Given the description of an element on the screen output the (x, y) to click on. 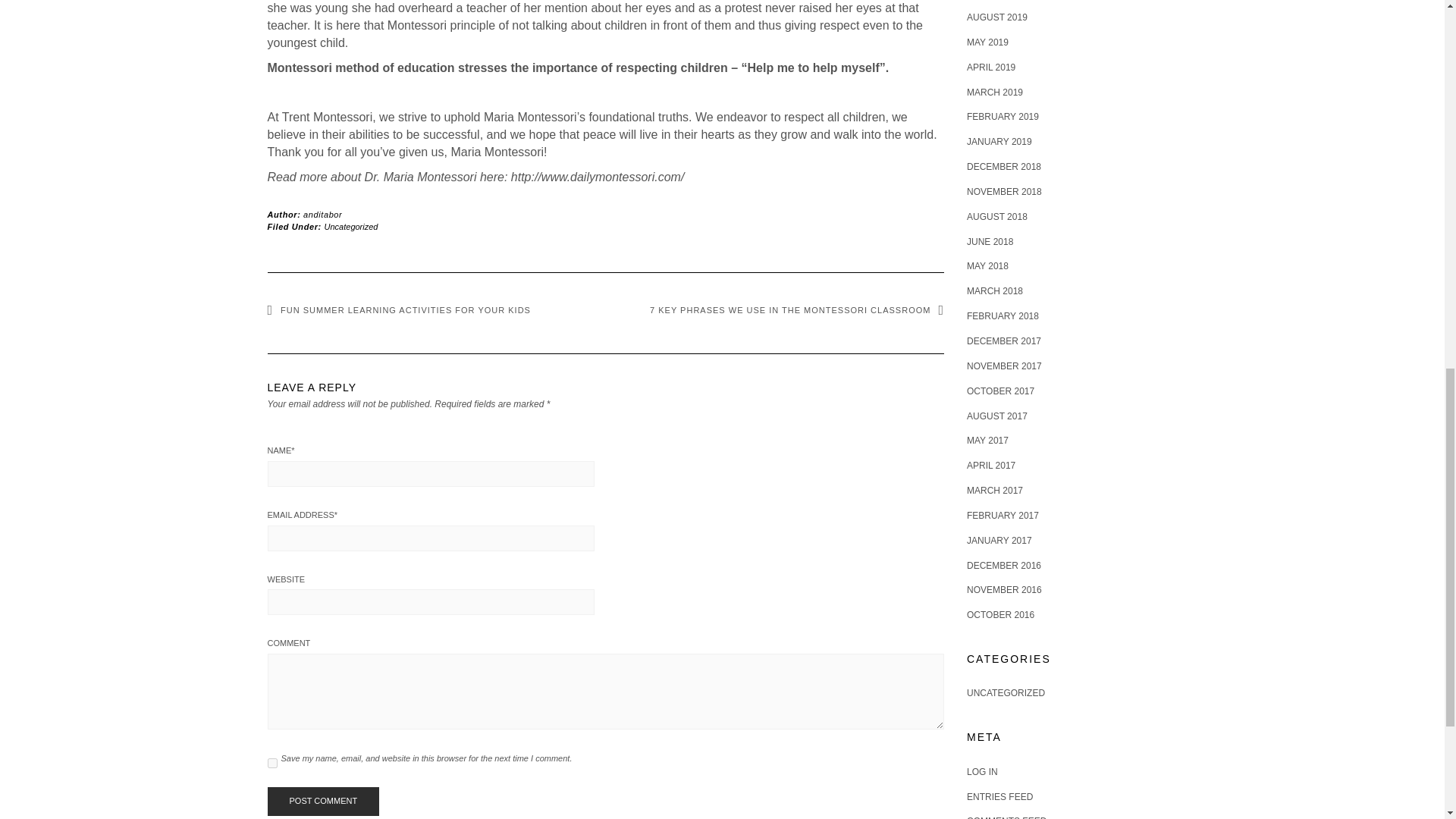
Post Comment (322, 801)
yes (271, 763)
Uncategorized (351, 225)
FUN SUMMER LEARNING ACTIVITIES FOR YOUR KIDS (397, 309)
Posts by anditabor (322, 214)
7 KEY PHRASES WE USE IN THE MONTESSORI CLASSROOM (796, 309)
anditabor (322, 214)
Post Comment (322, 801)
